Given the description of an element on the screen output the (x, y) to click on. 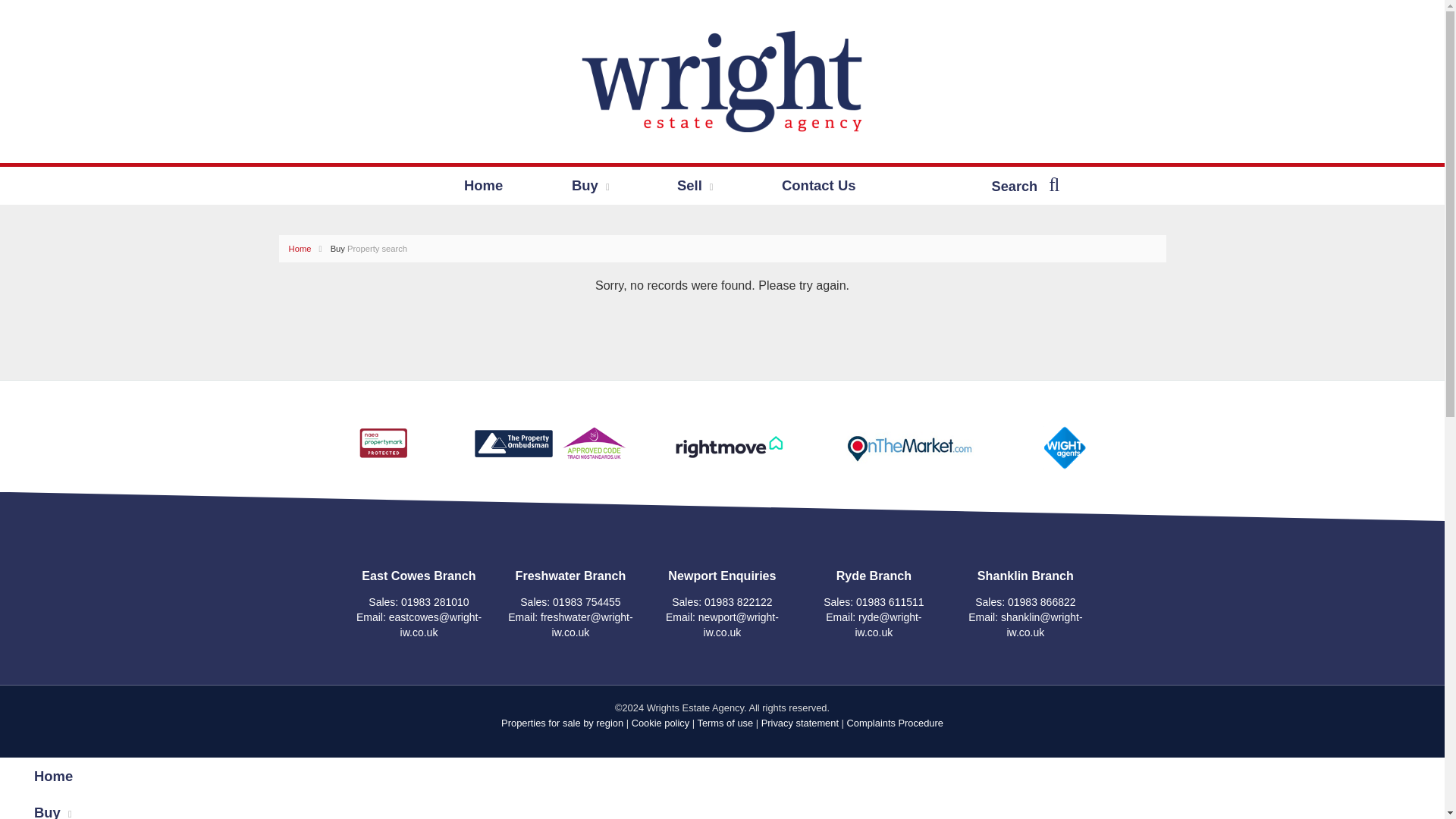
Cookie policy (660, 722)
Complaints Procedure (895, 722)
Privacy statement (799, 722)
Home (483, 185)
Properties for sale by region (561, 722)
Terms of use (724, 722)
Home (84, 775)
Contact Us (818, 185)
Home (308, 248)
